Given the description of an element on the screen output the (x, y) to click on. 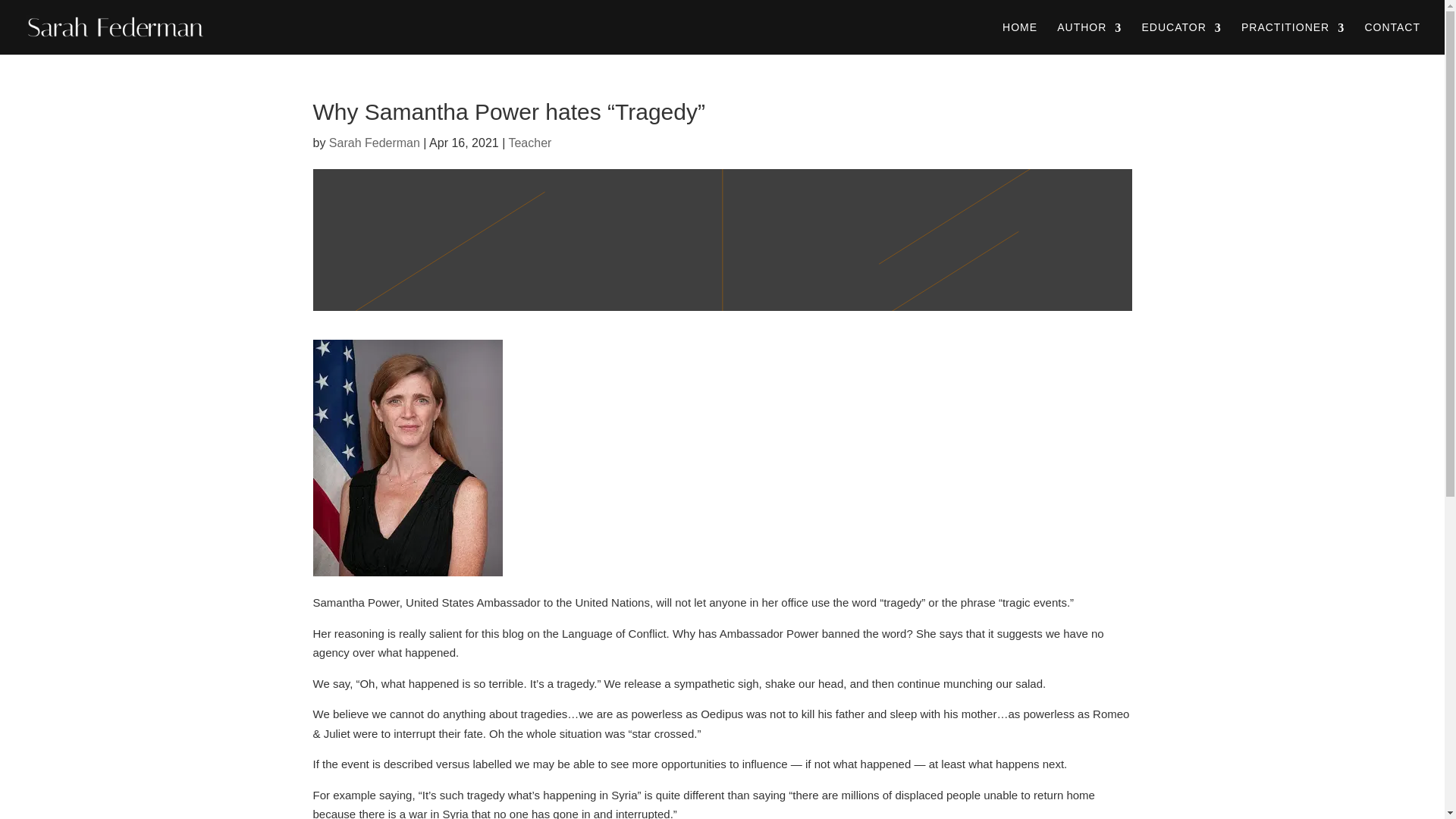
EDUCATOR (1181, 38)
HOME (1019, 38)
PRACTITIONER (1292, 38)
CONTACT (1392, 38)
Sarah Federman (374, 142)
Teacher (529, 142)
AUTHOR (1089, 38)
Posts by Sarah Federman (374, 142)
